Given the description of an element on the screen output the (x, y) to click on. 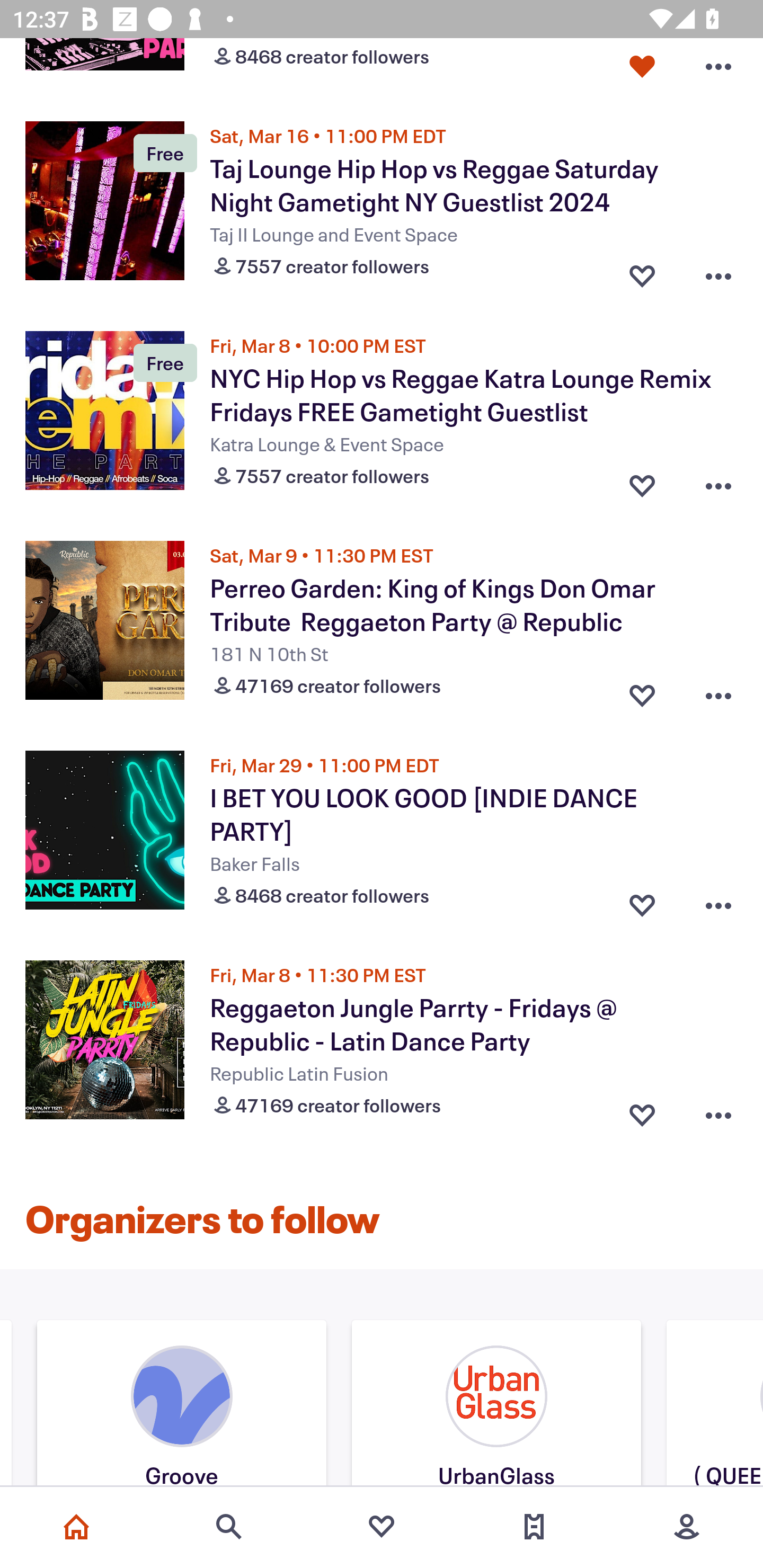
Favorite button (642, 66)
Overflow menu button (718, 66)
Favorite button (642, 271)
Overflow menu button (718, 271)
Favorite button (642, 481)
Overflow menu button (718, 481)
Favorite button (642, 691)
Overflow menu button (718, 691)
Favorite button (642, 900)
Overflow menu button (718, 900)
Favorite button (642, 1110)
Overflow menu button (718, 1110)
Organizer's image Groove (181, 1405)
Organizer's image UrbanGlass (495, 1405)
Home (76, 1526)
Search events (228, 1526)
Favorites (381, 1526)
Tickets (533, 1526)
More (686, 1526)
